Given the description of an element on the screen output the (x, y) to click on. 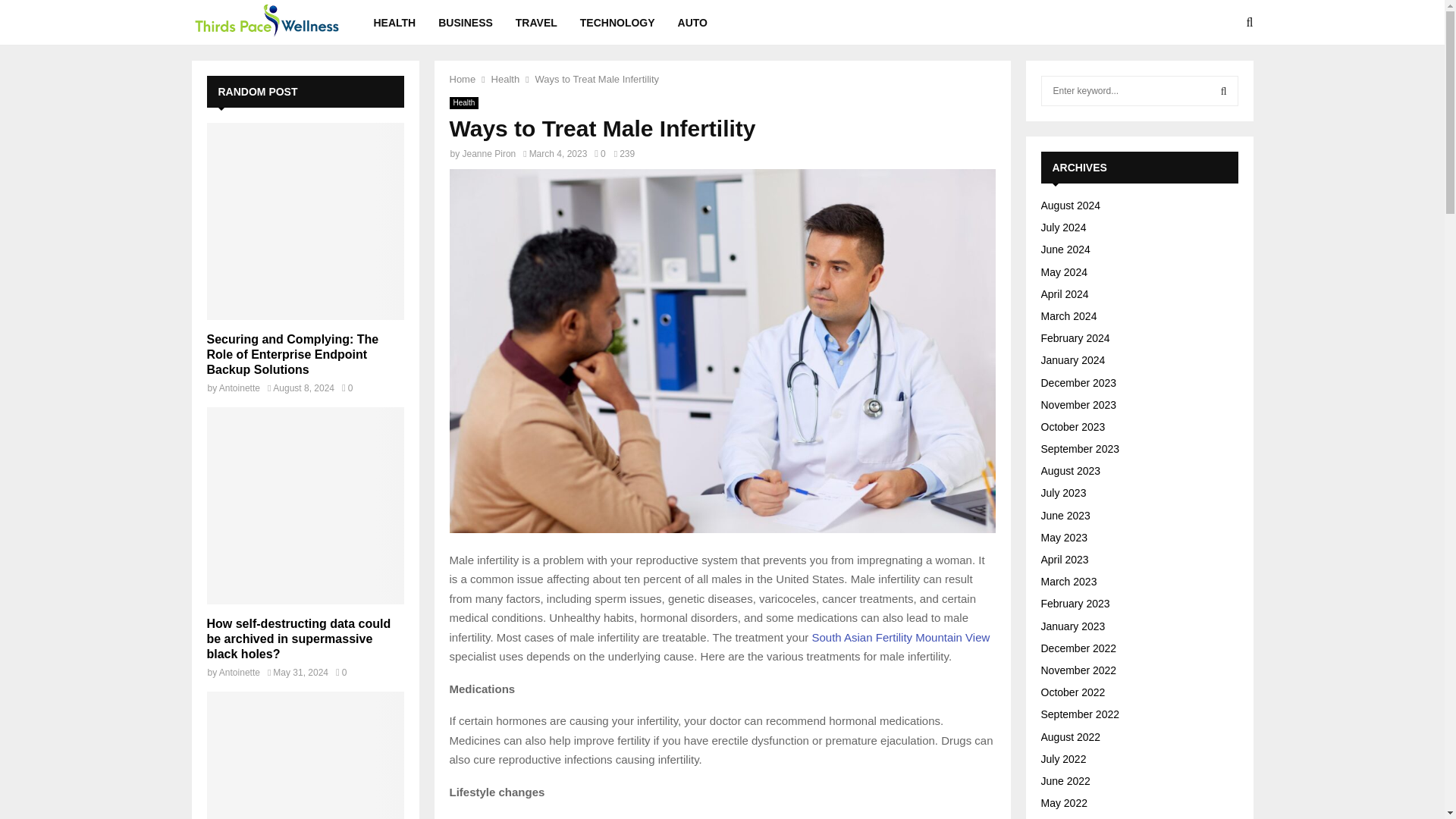
TRAVEL (536, 22)
South Asian Fertility Mountain View (899, 636)
Ways to Treat Male Infertility (597, 79)
0 (347, 388)
BUSINESS (465, 22)
TECHNOLOGY (617, 22)
0 (341, 672)
HEALTH (393, 22)
